Given the description of an element on the screen output the (x, y) to click on. 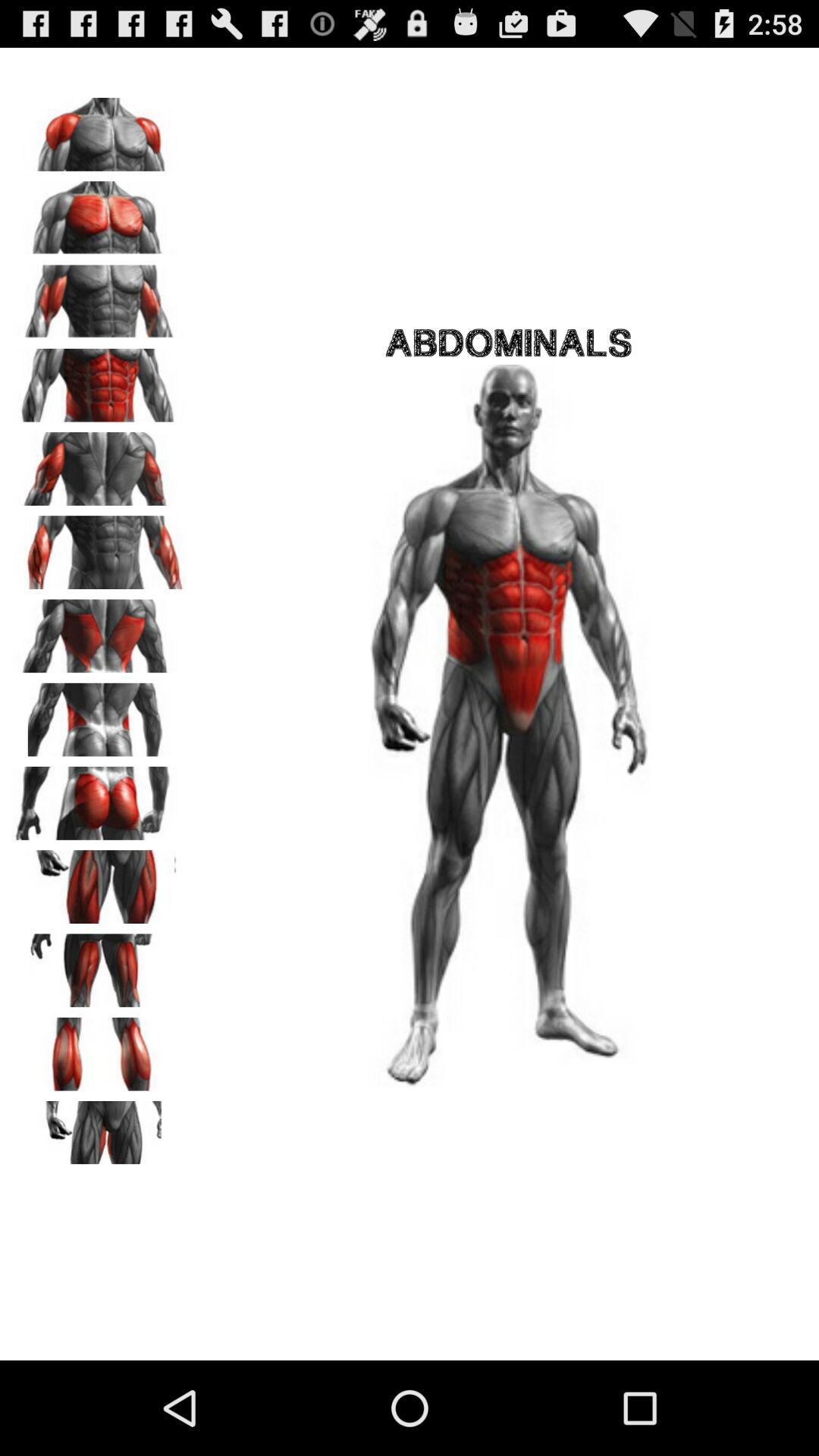
show more (99, 1132)
